Given the description of an element on the screen output the (x, y) to click on. 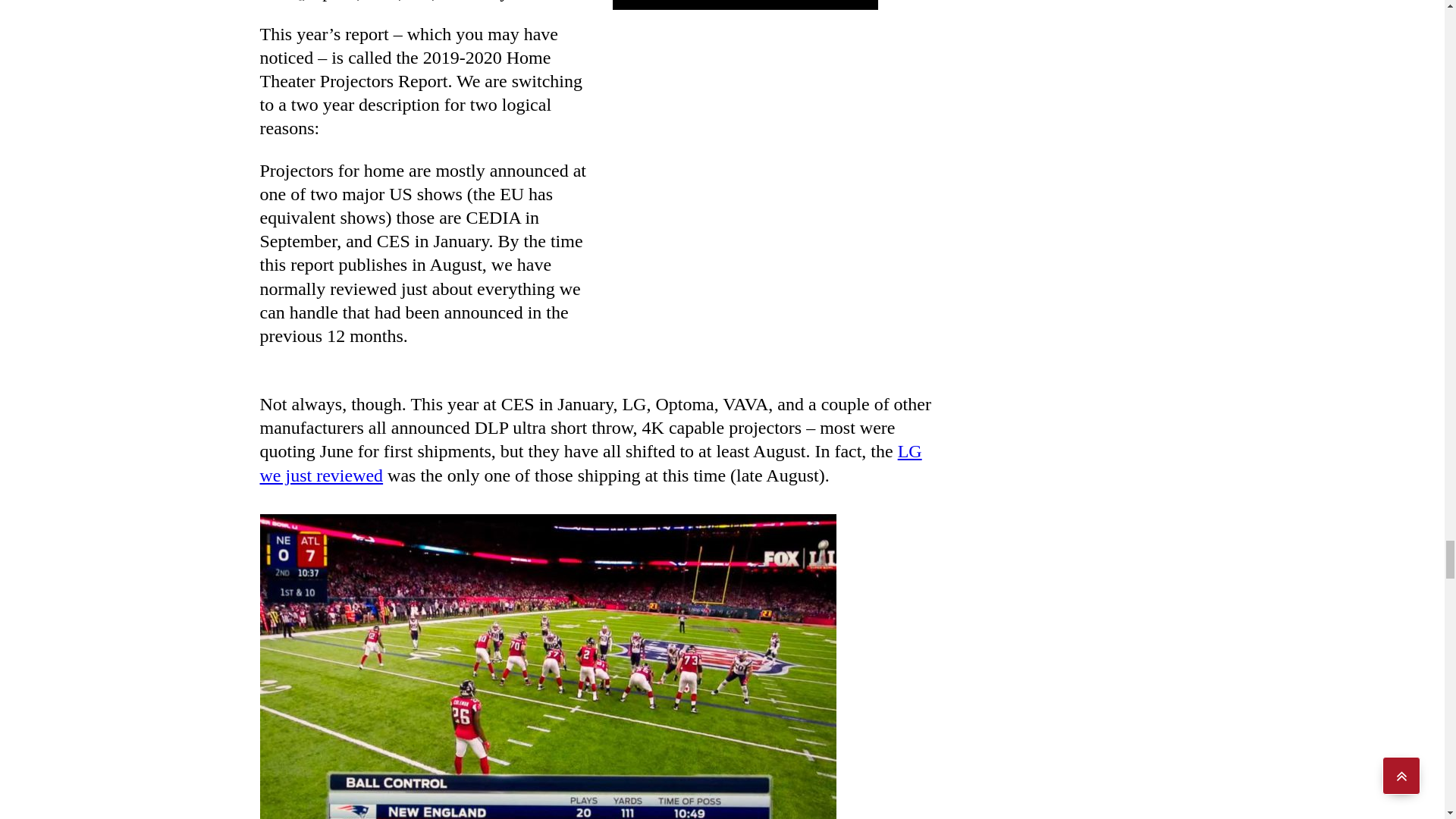
Home-Theater-Report-Best-in-Class-List-of-Winners (744, 4)
